Given the description of an element on the screen output the (x, y) to click on. 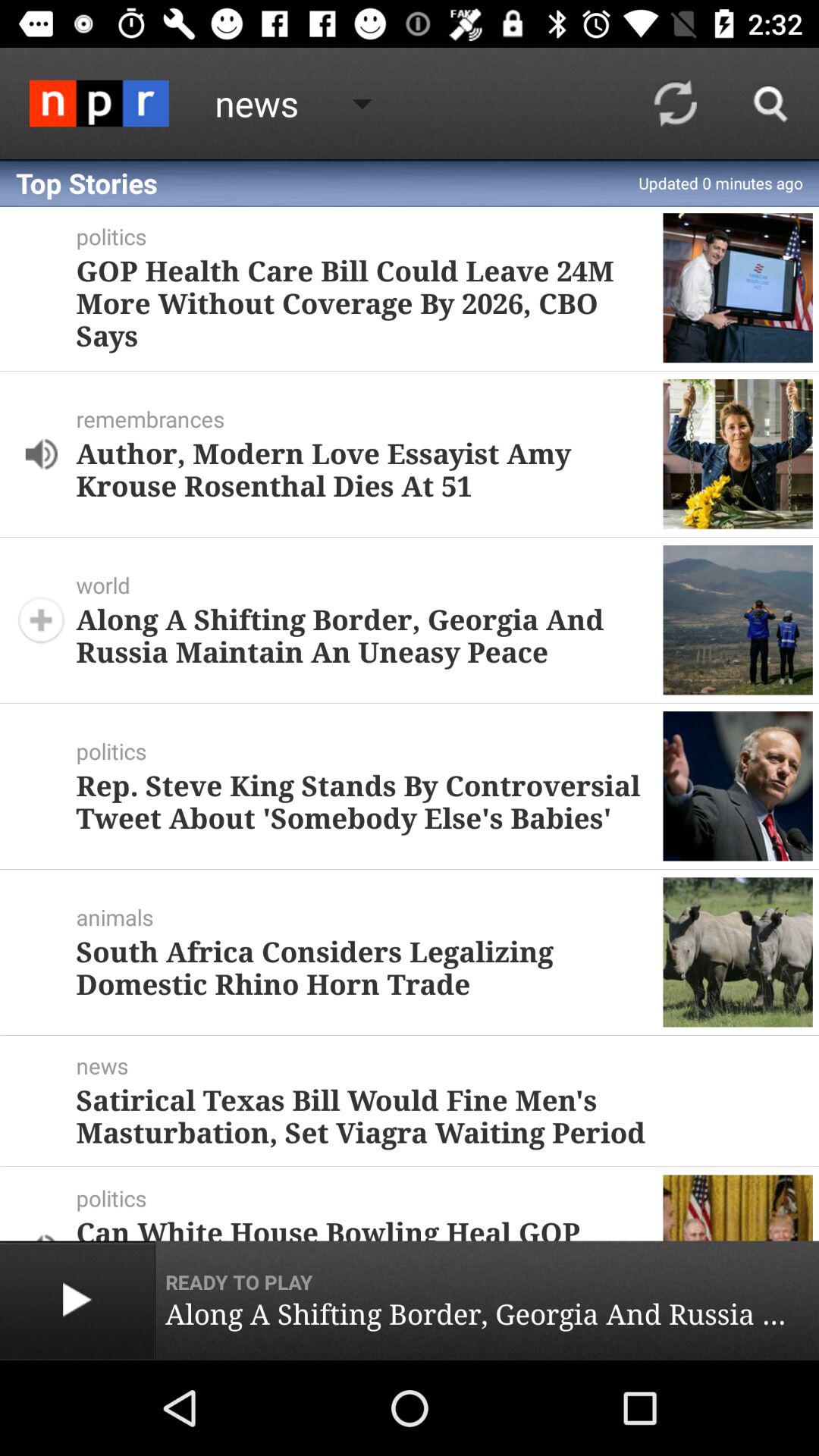
turn off the item below the remembrances (363, 468)
